Given the description of an element on the screen output the (x, y) to click on. 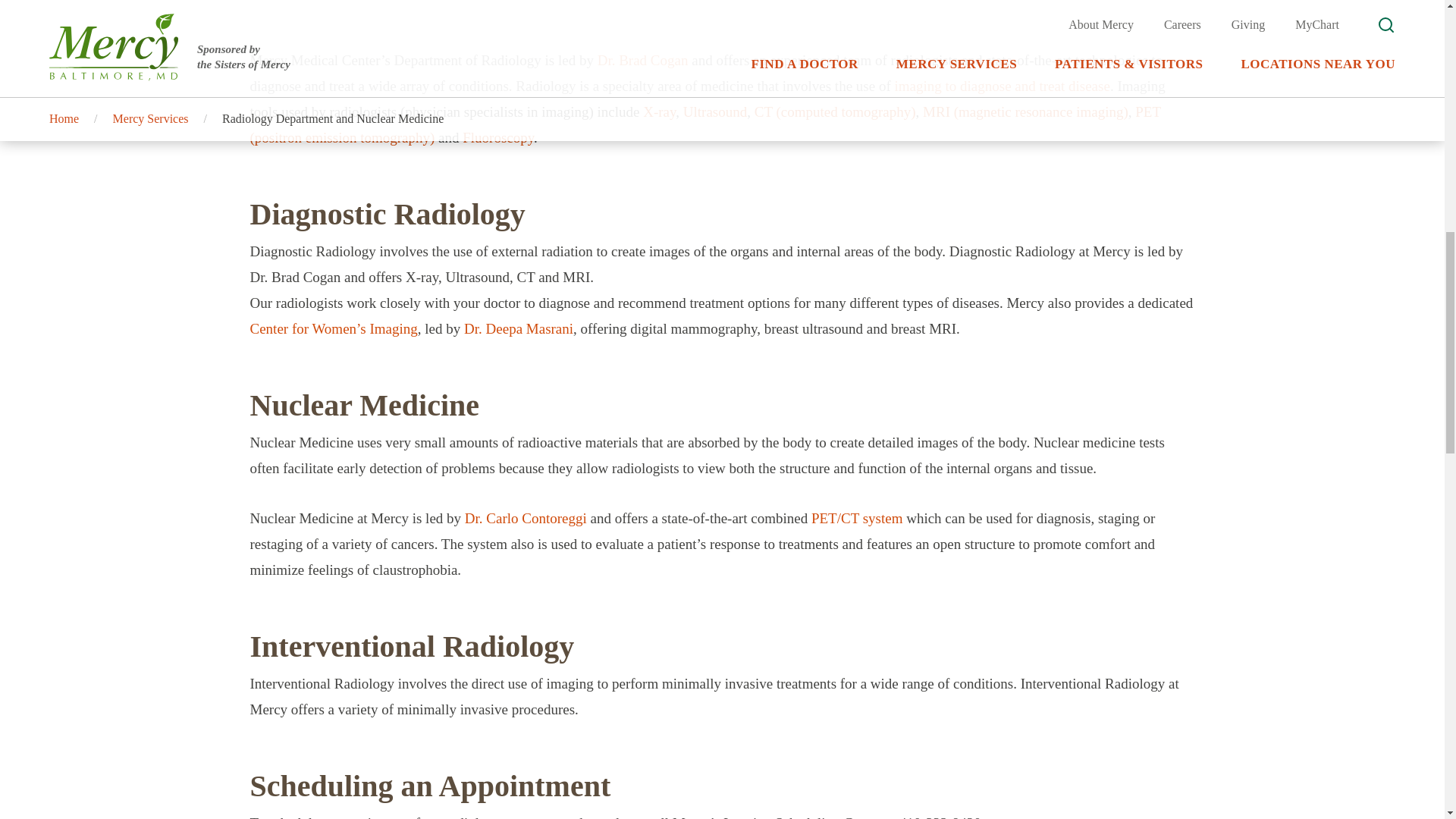
imaging to diagnose and treat disease (1001, 85)
X-ray (659, 111)
Dr. Brad Cogan (642, 59)
Ultrasound (714, 111)
